Given the description of an element on the screen output the (x, y) to click on. 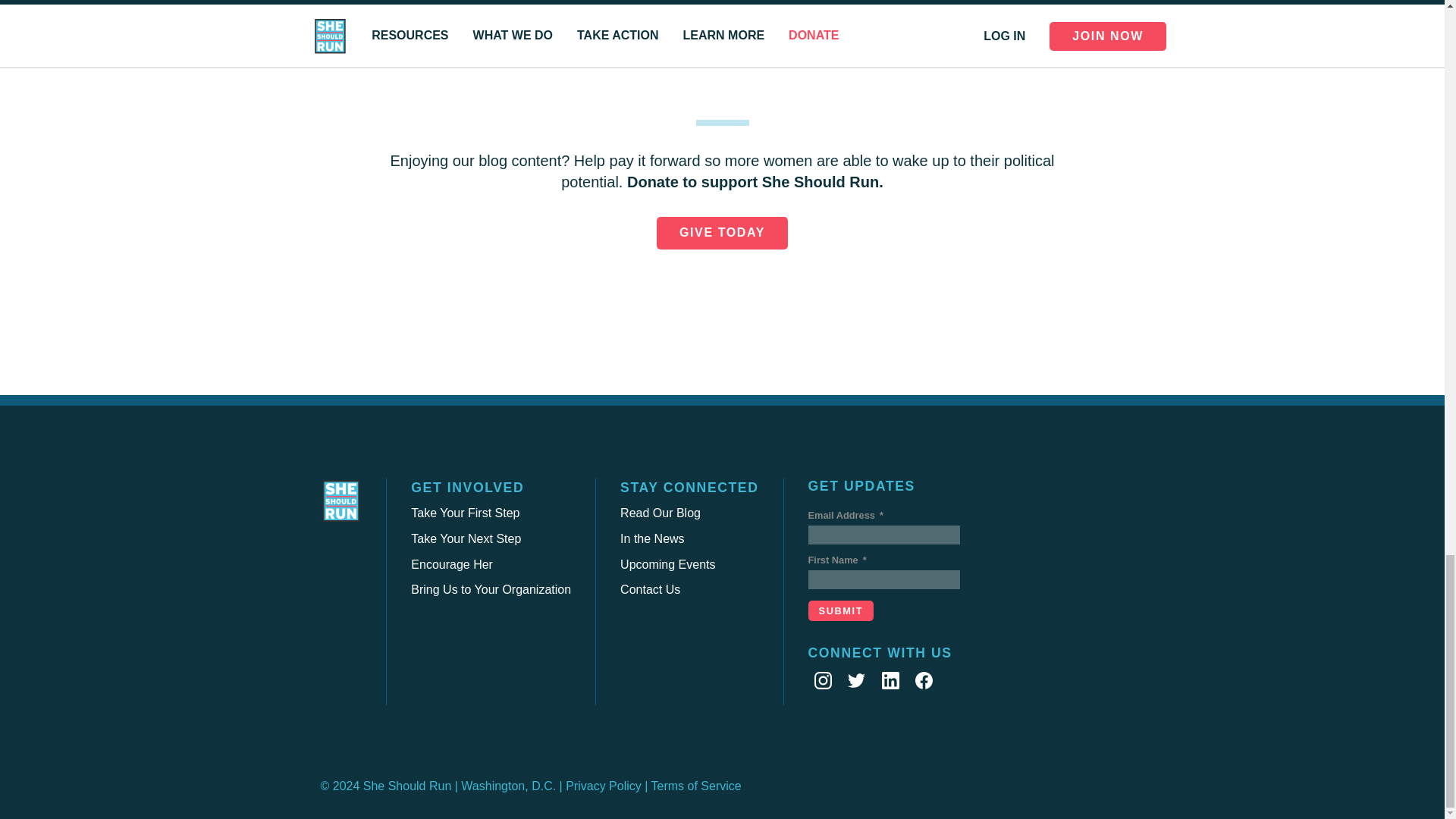
Take Your Next Step (465, 538)
Submit (841, 610)
Facebook icon (924, 680)
LinkedIn icon (890, 680)
Instagram icon (822, 680)
Read Our Blog (660, 512)
Twitter icon (855, 680)
full video in the She Should Run Community (635, 21)
GET INVOLVED (467, 487)
STAY CONNECTED (689, 487)
GIVE TODAY (721, 232)
Take Your First Step (464, 512)
Bring Us to Your Organization (490, 589)
Encourage Her (451, 563)
